Given the description of an element on the screen output the (x, y) to click on. 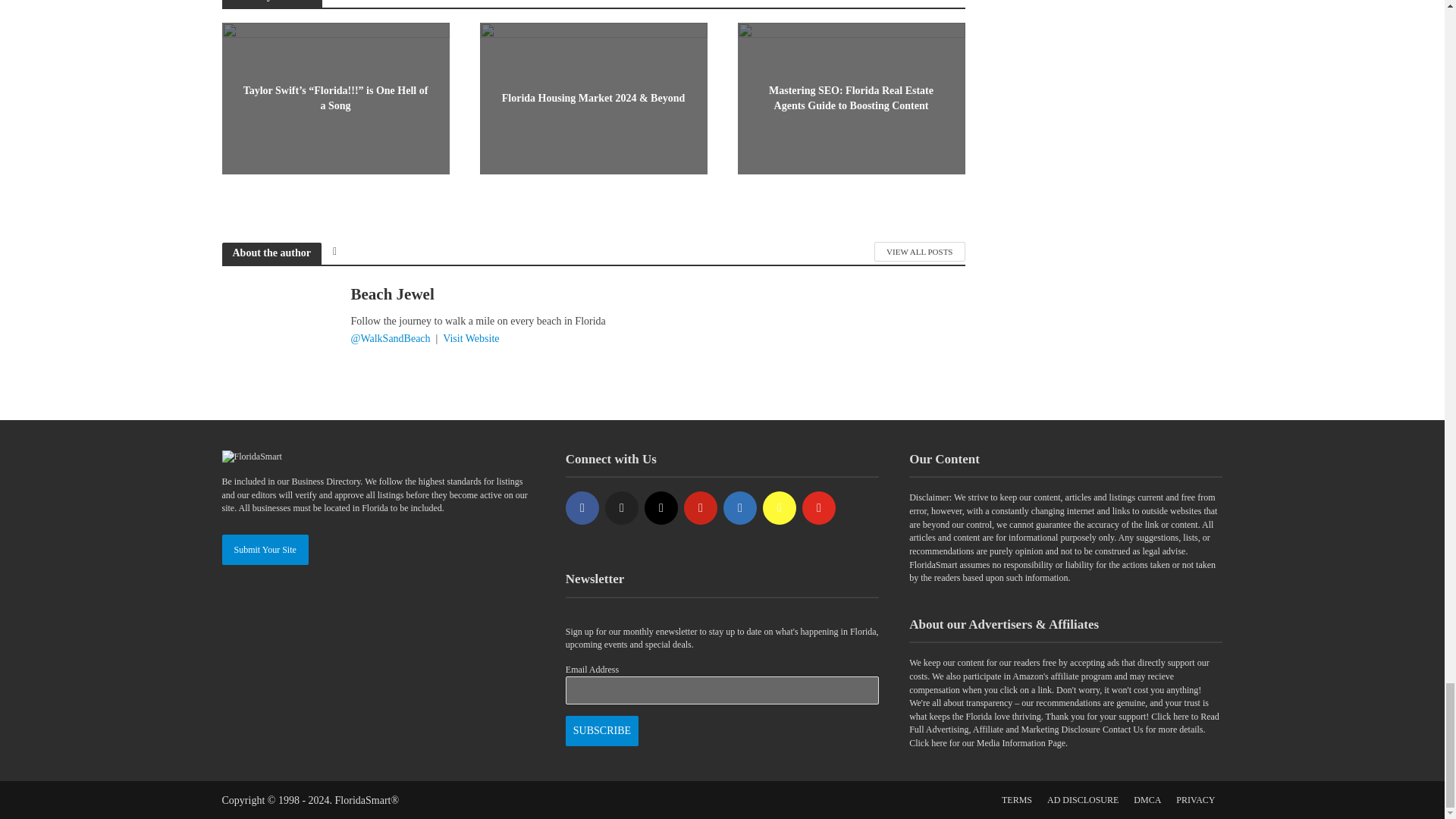
Subscribe (602, 730)
YouTube (818, 507)
Pinterest (700, 507)
Facebook (582, 507)
Linkedin (740, 507)
Instagram (661, 507)
Snapchat (779, 507)
